Given the description of an element on the screen output the (x, y) to click on. 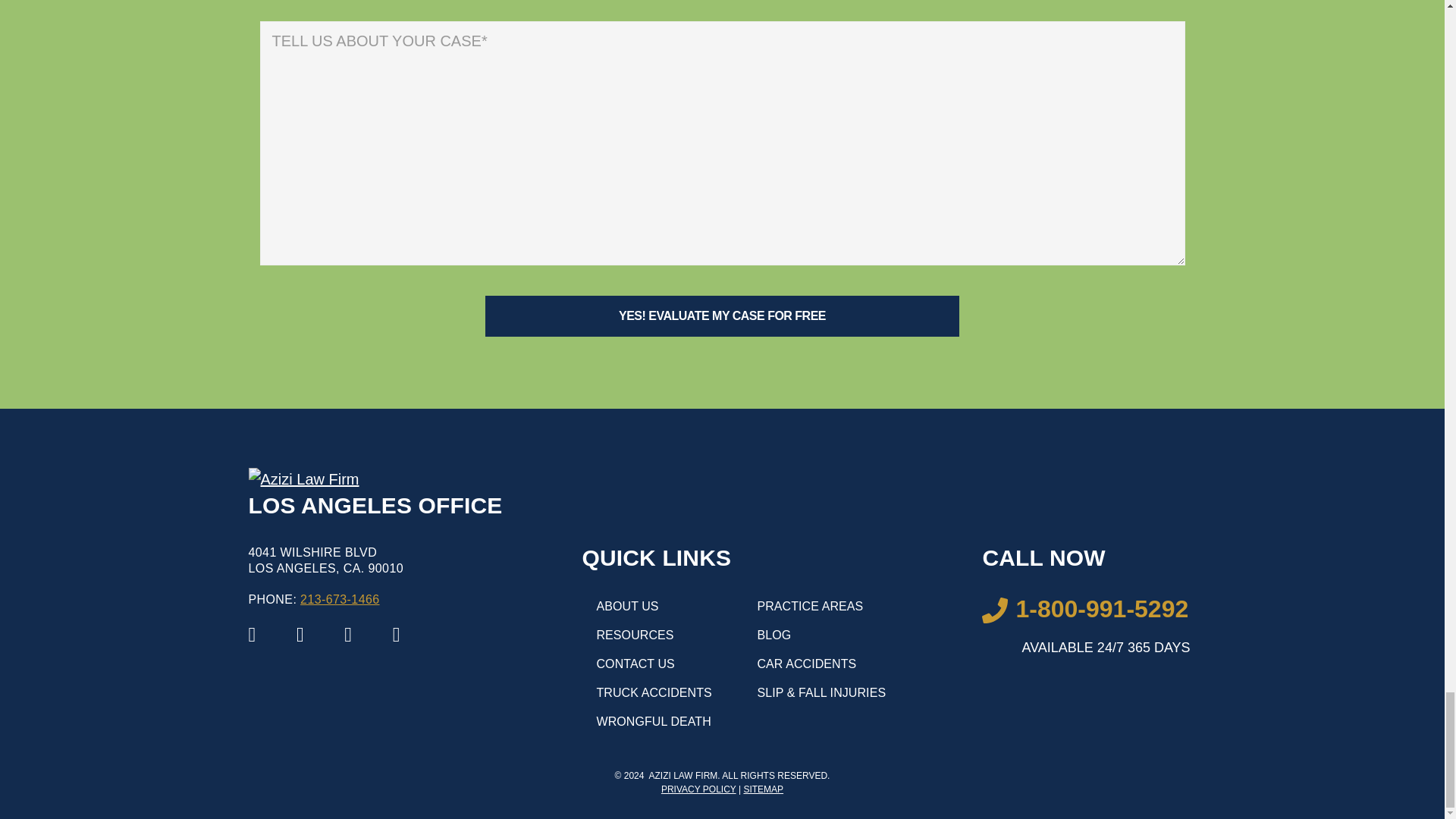
Yes! EVALUATE MY CASE FOR FREE (721, 315)
